Given the description of an element on the screen output the (x, y) to click on. 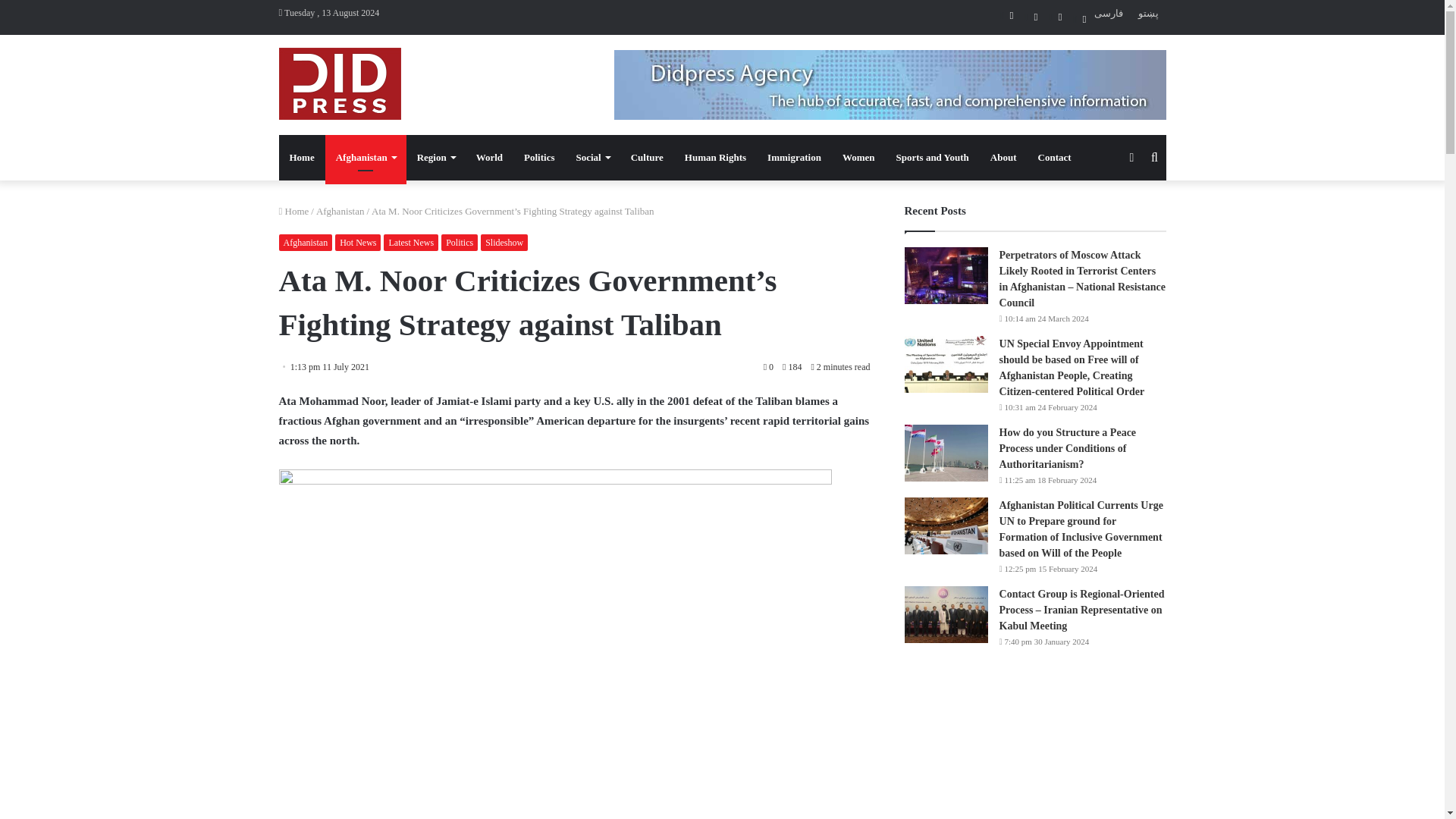
Social (592, 157)
Immigration (794, 157)
Human Rights (715, 157)
Politics (538, 157)
Sports and Youth (932, 157)
Culture (647, 157)
Home (301, 157)
Region (435, 157)
Home (293, 211)
Afghanistan (340, 211)
